Given the description of an element on the screen output the (x, y) to click on. 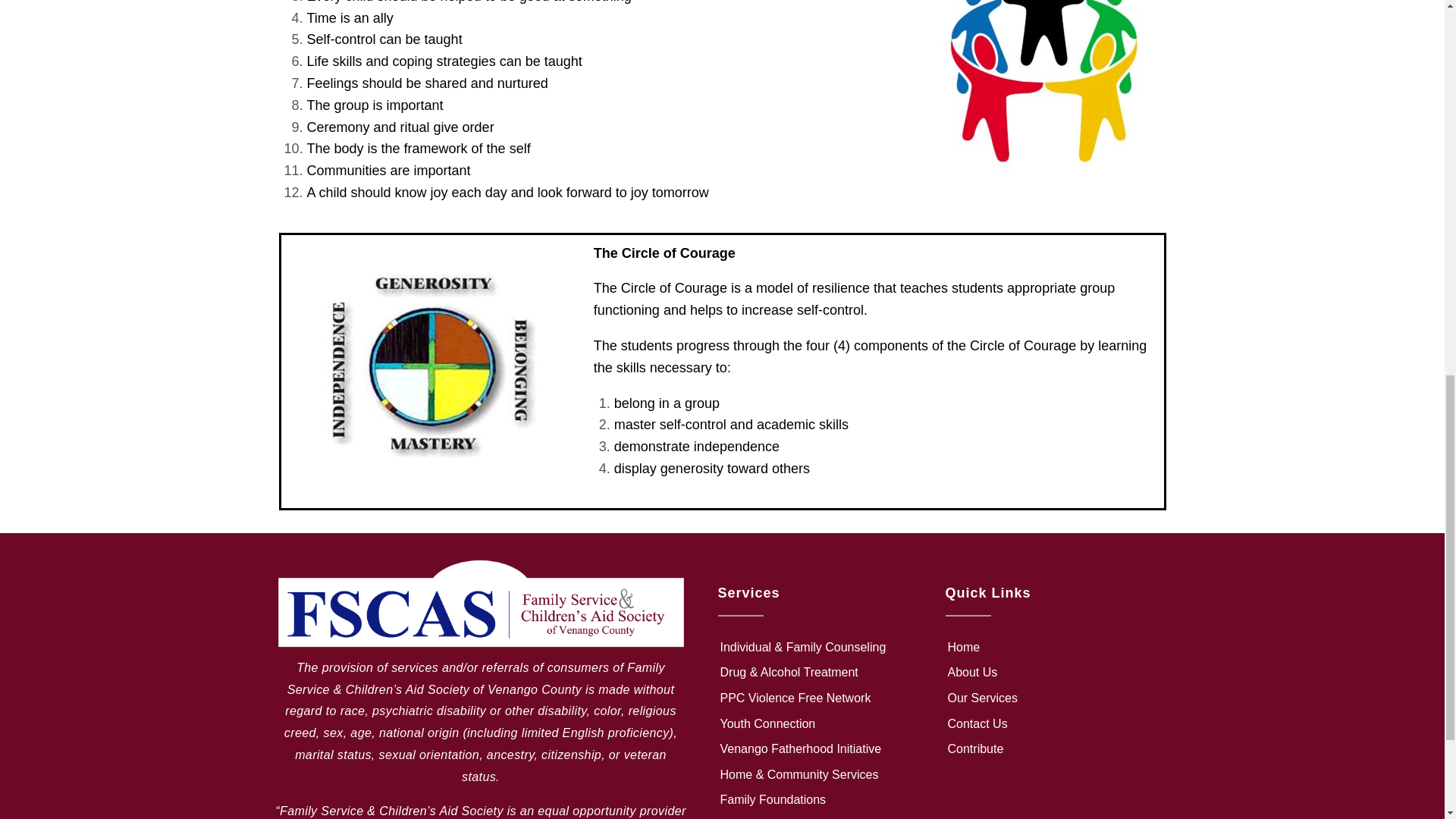
PPC Violence Free Network (815, 698)
